Given the description of an element on the screen output the (x, y) to click on. 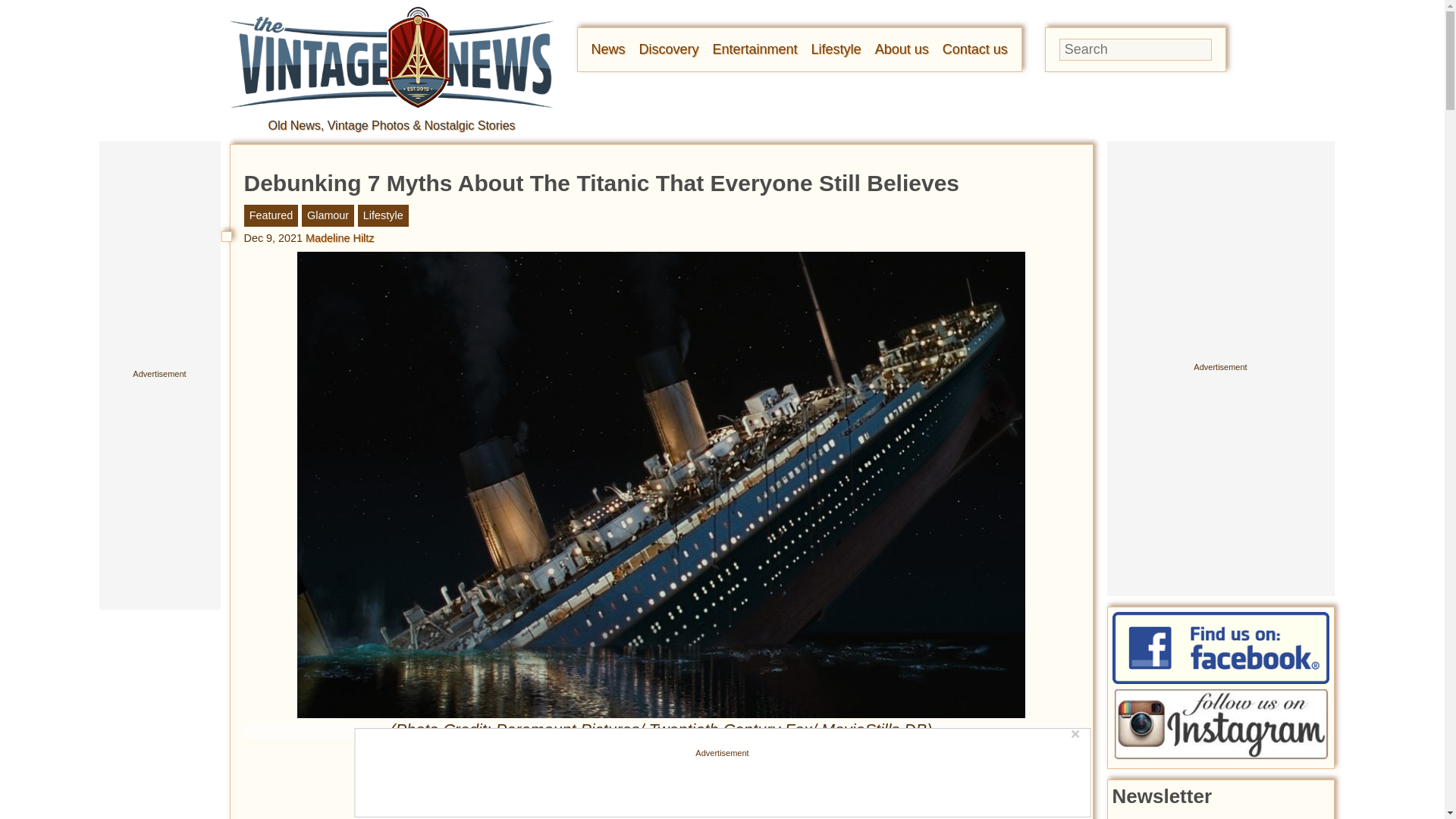
Lifestyle (835, 48)
Entertainment (755, 48)
News (608, 48)
Contact us (974, 48)
Discovery (668, 48)
About us (901, 48)
